Given the description of an element on the screen output the (x, y) to click on. 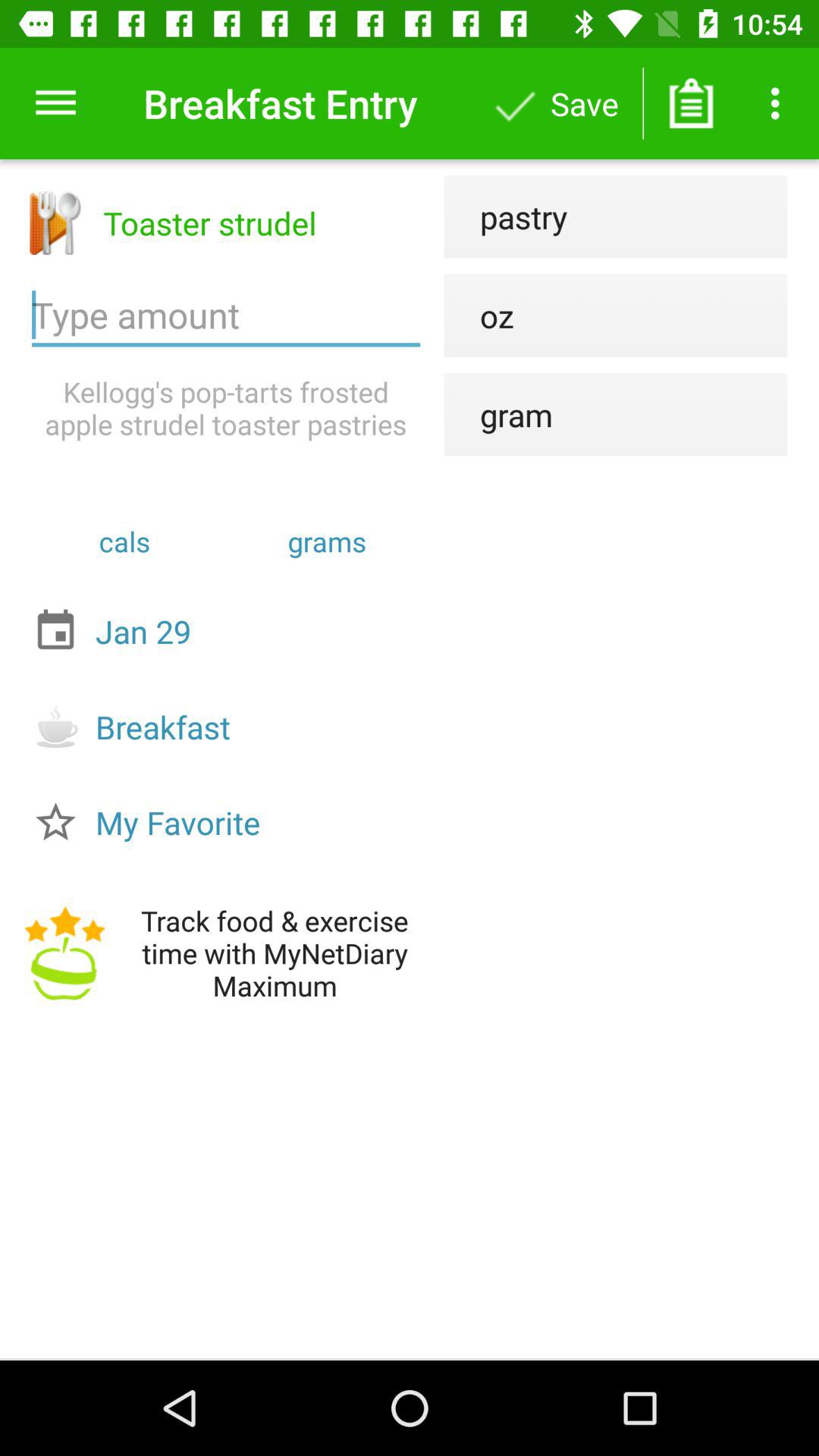
tap icon to the right of the toaster strudel (505, 216)
